Given the description of an element on the screen output the (x, y) to click on. 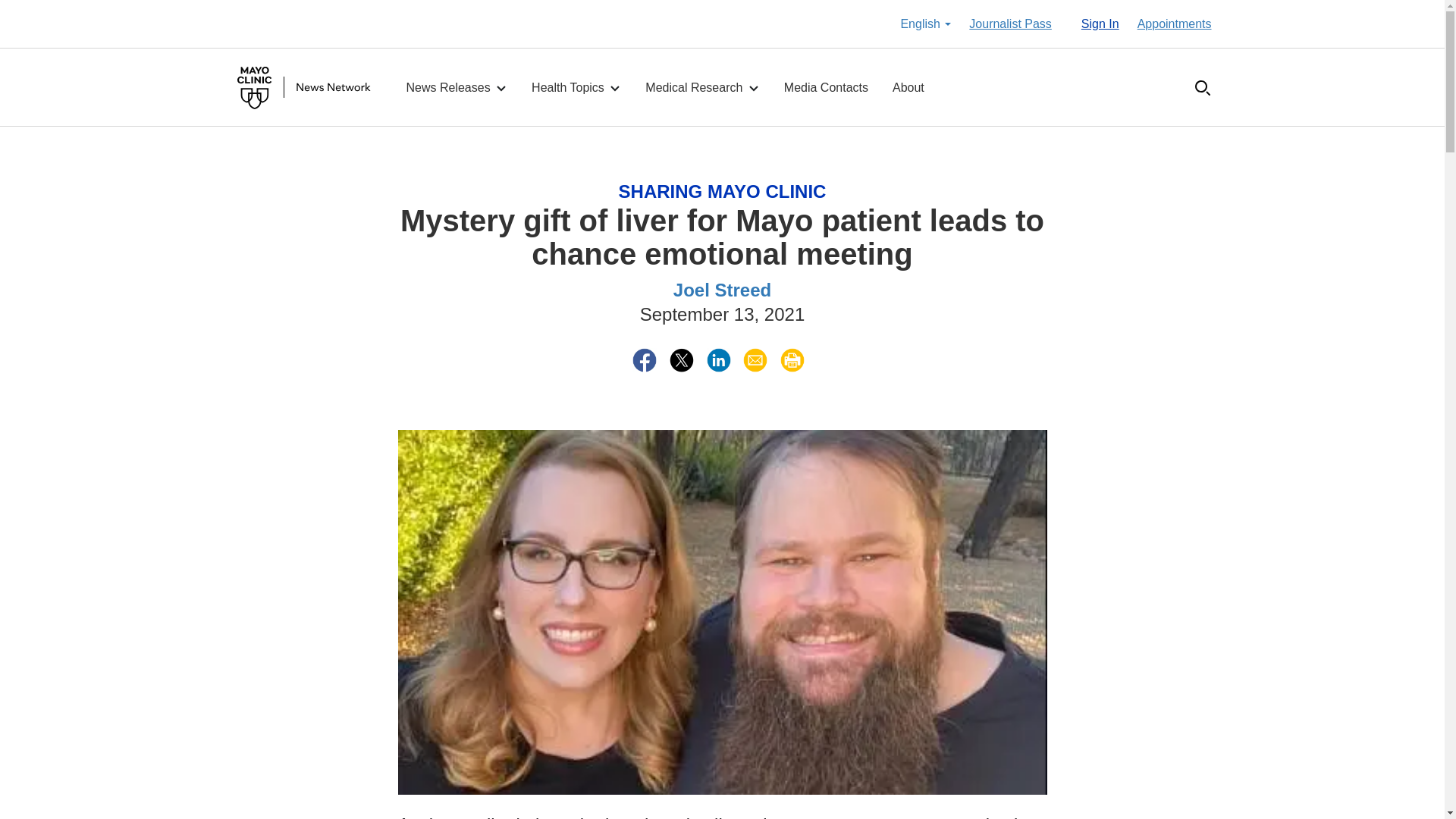
Medical Research (702, 87)
Journalist Pass (1010, 23)
News Releases (457, 87)
English (924, 23)
Appointments (1174, 24)
Journalist Pass (1010, 23)
Sign In (1100, 23)
Health Topics (576, 87)
English (924, 23)
Health Topics (576, 87)
News Releases (457, 87)
